Given the description of an element on the screen output the (x, y) to click on. 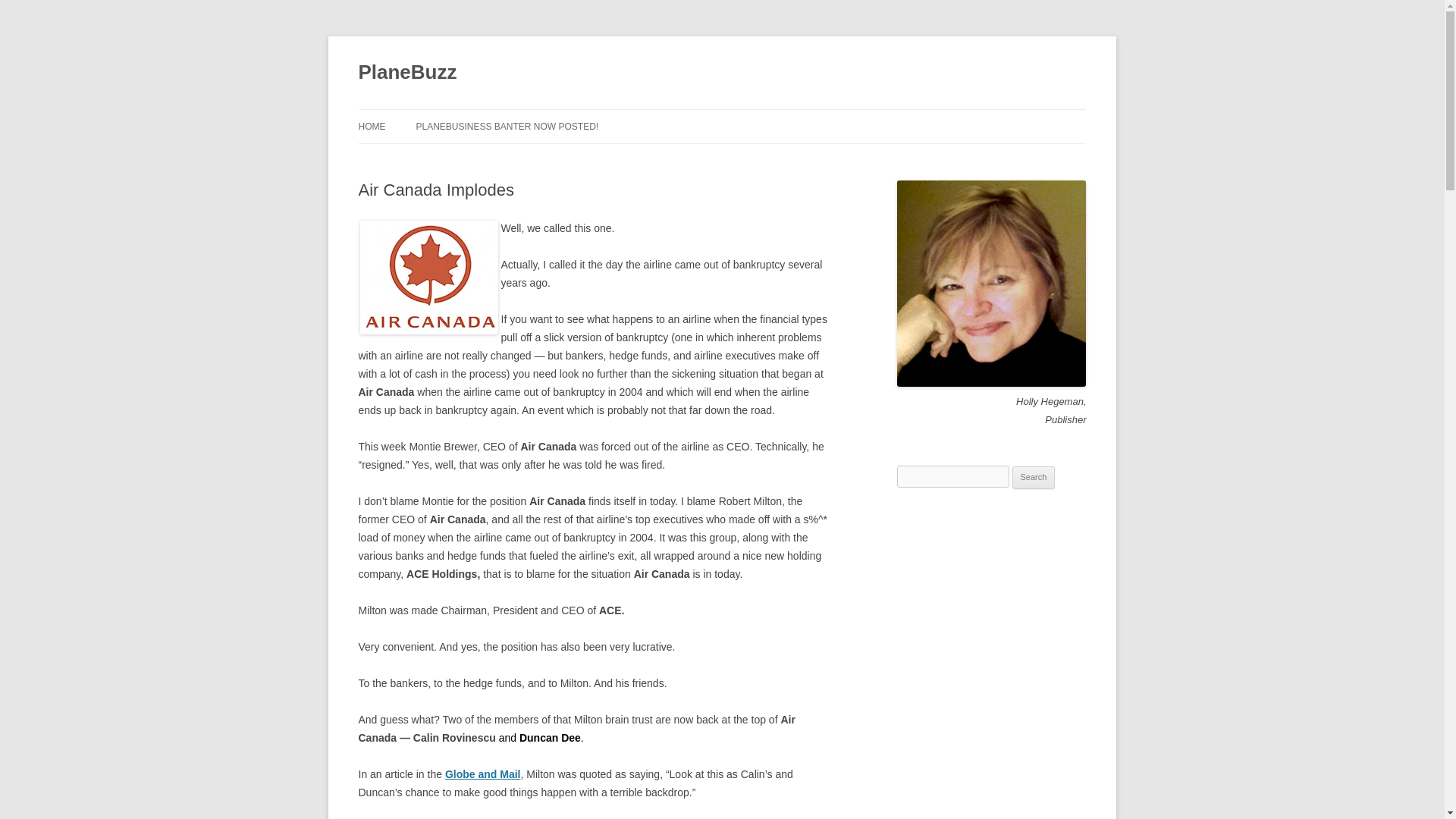
PlaneBuzz (407, 72)
Globe and Mail (483, 774)
Search (1033, 477)
PLANEBUSINESS BANTER NOW POSTED! (506, 126)
Globe and Mail (483, 774)
Search (1033, 477)
